Given the description of an element on the screen output the (x, y) to click on. 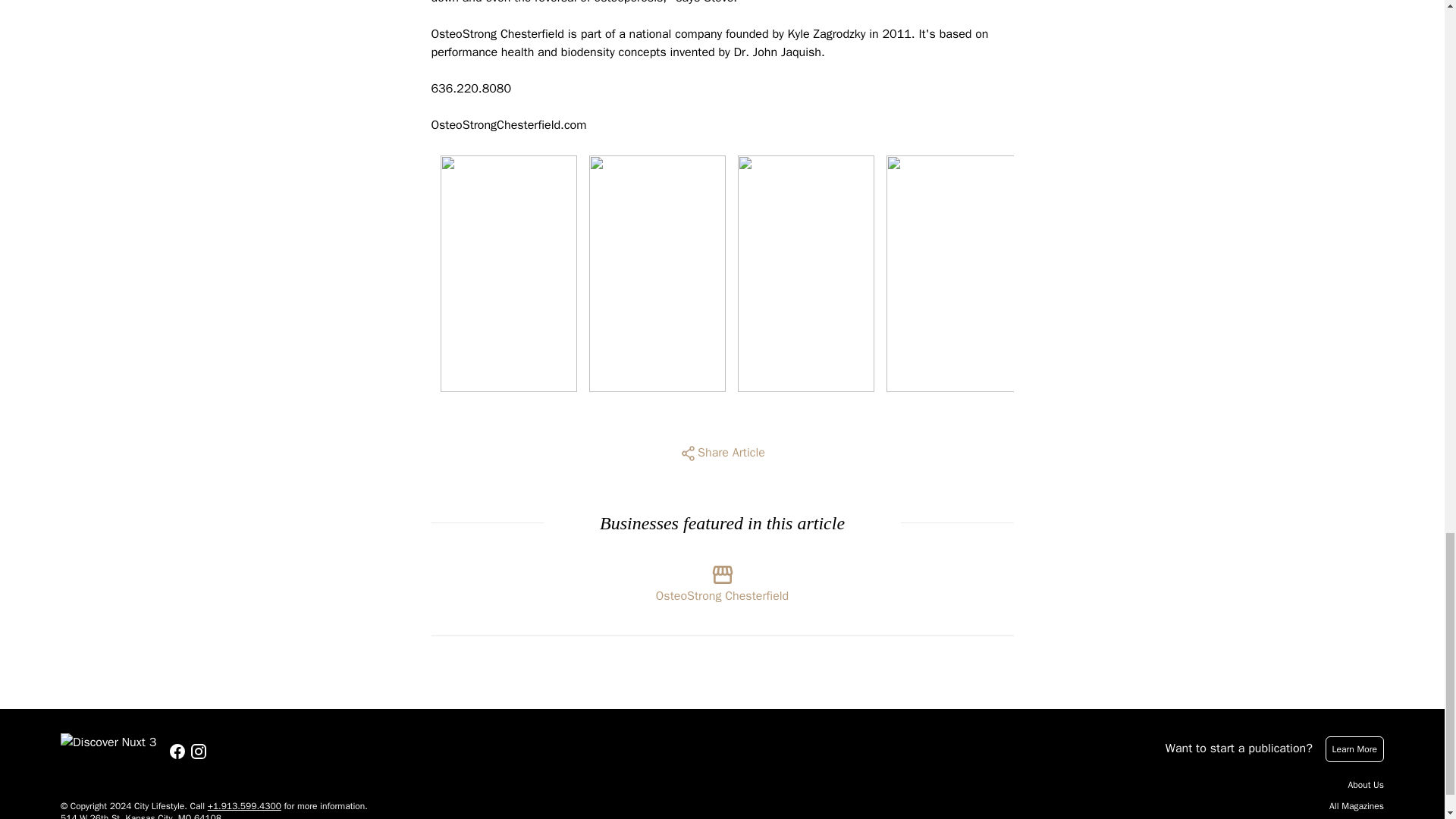
All Magazines (1356, 806)
About Us (1366, 784)
OsteoStrong Chesterfield (722, 579)
Learn More (1354, 749)
Share Article (722, 452)
